Given the description of an element on the screen output the (x, y) to click on. 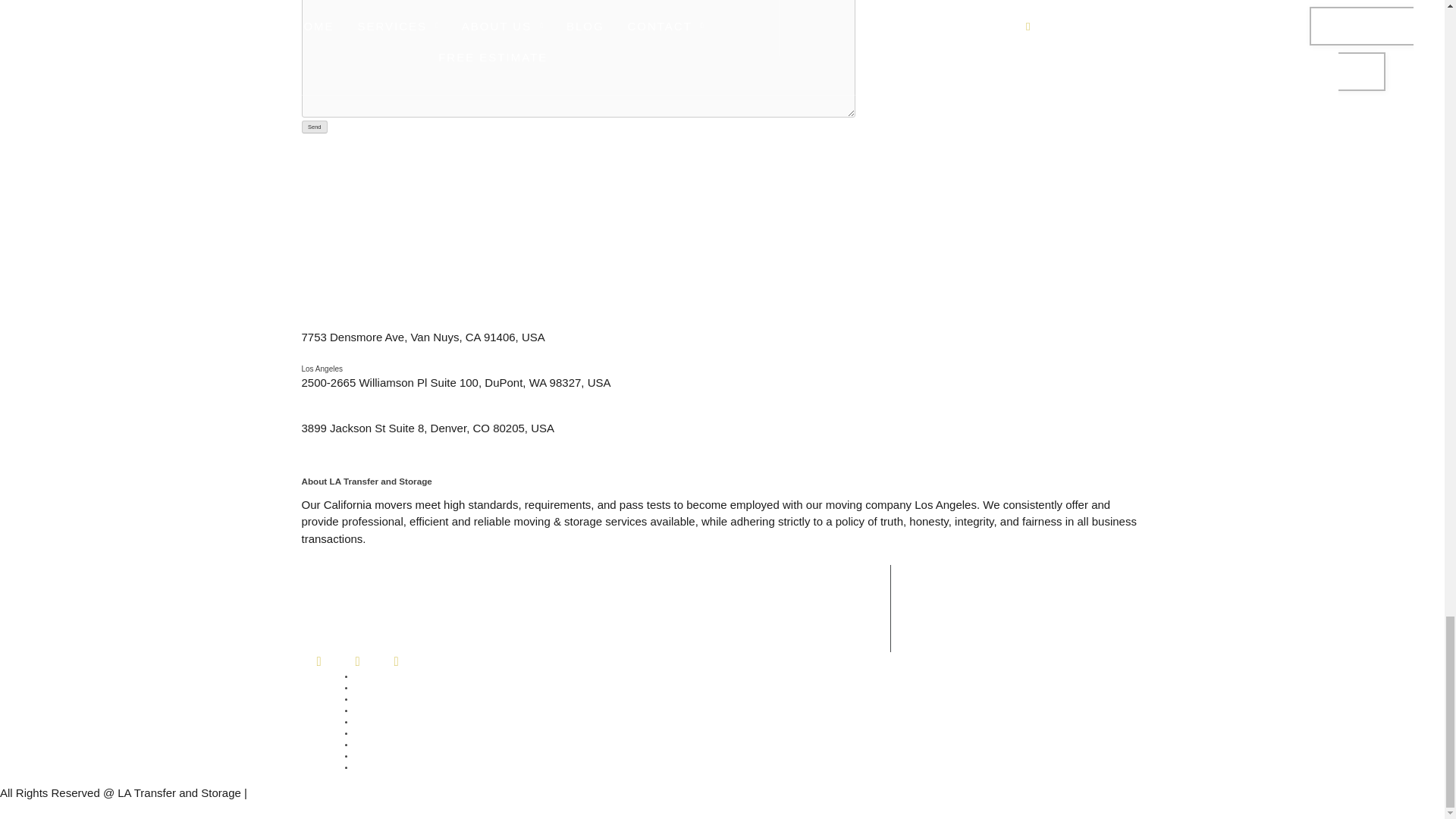
Send (315, 126)
